Given the description of an element on the screen output the (x, y) to click on. 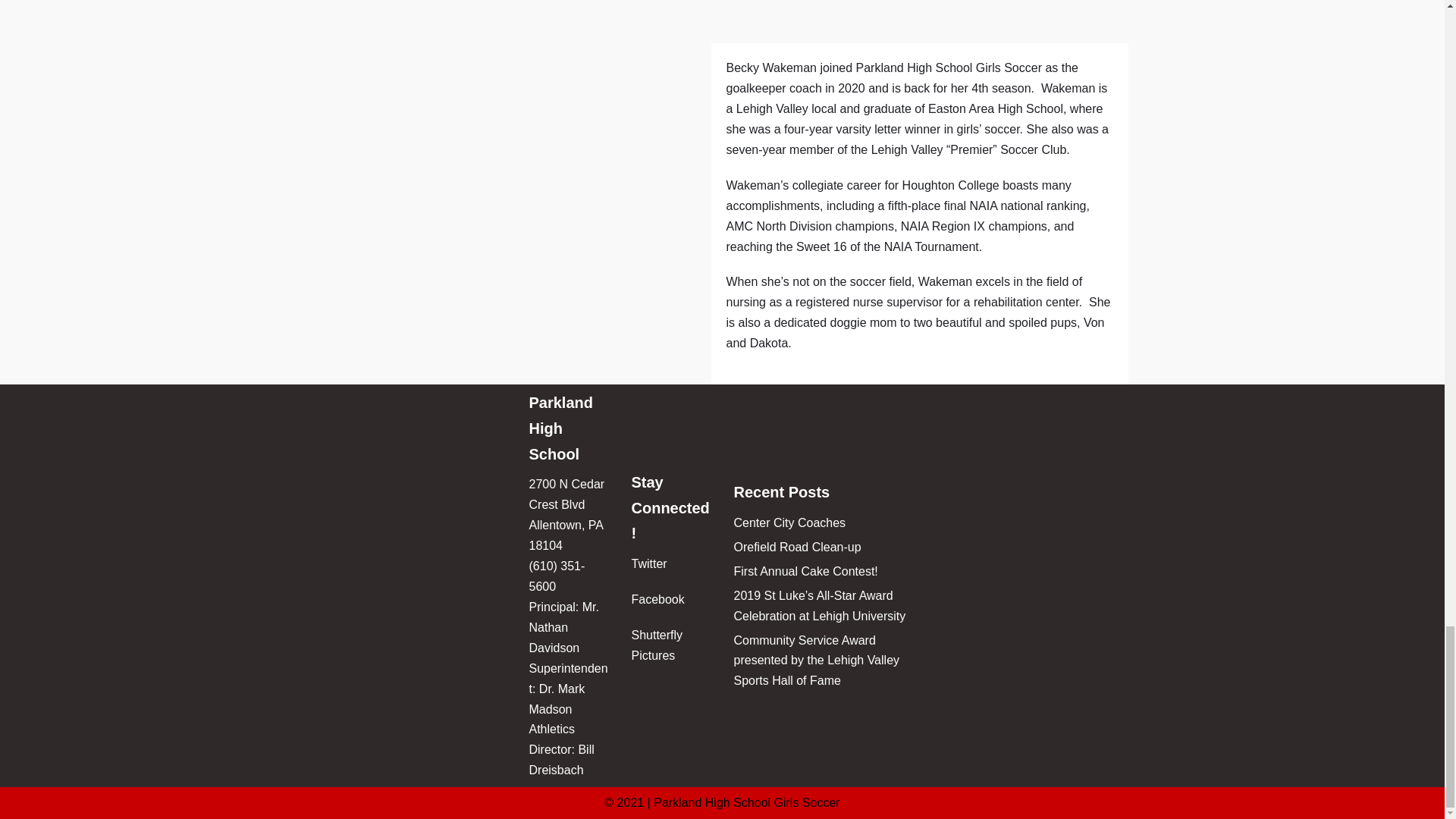
Shutterfly Pictures (656, 644)
Center City Coaches (789, 522)
Facebook (657, 599)
Twitter (648, 563)
